Given the description of an element on the screen output the (x, y) to click on. 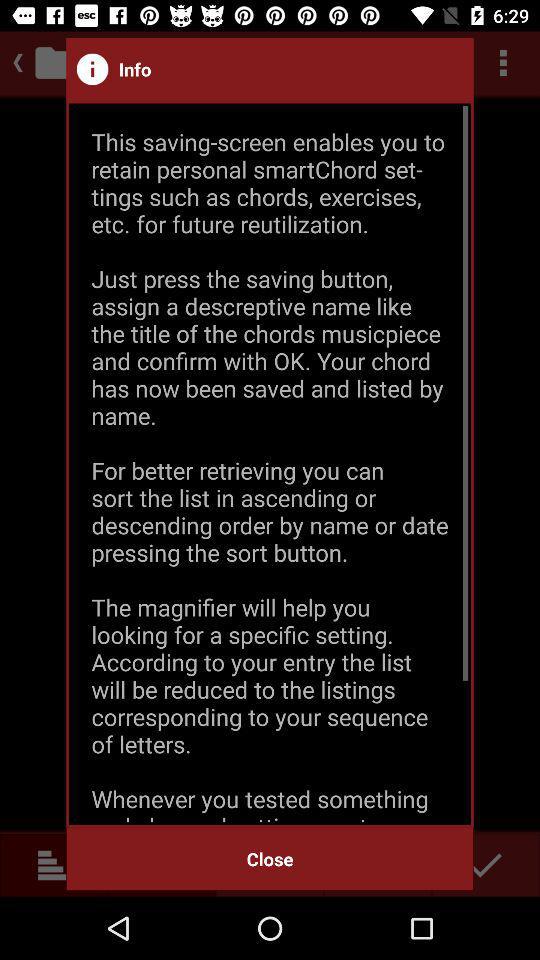
press the icon at the bottom (269, 858)
